Given the description of an element on the screen output the (x, y) to click on. 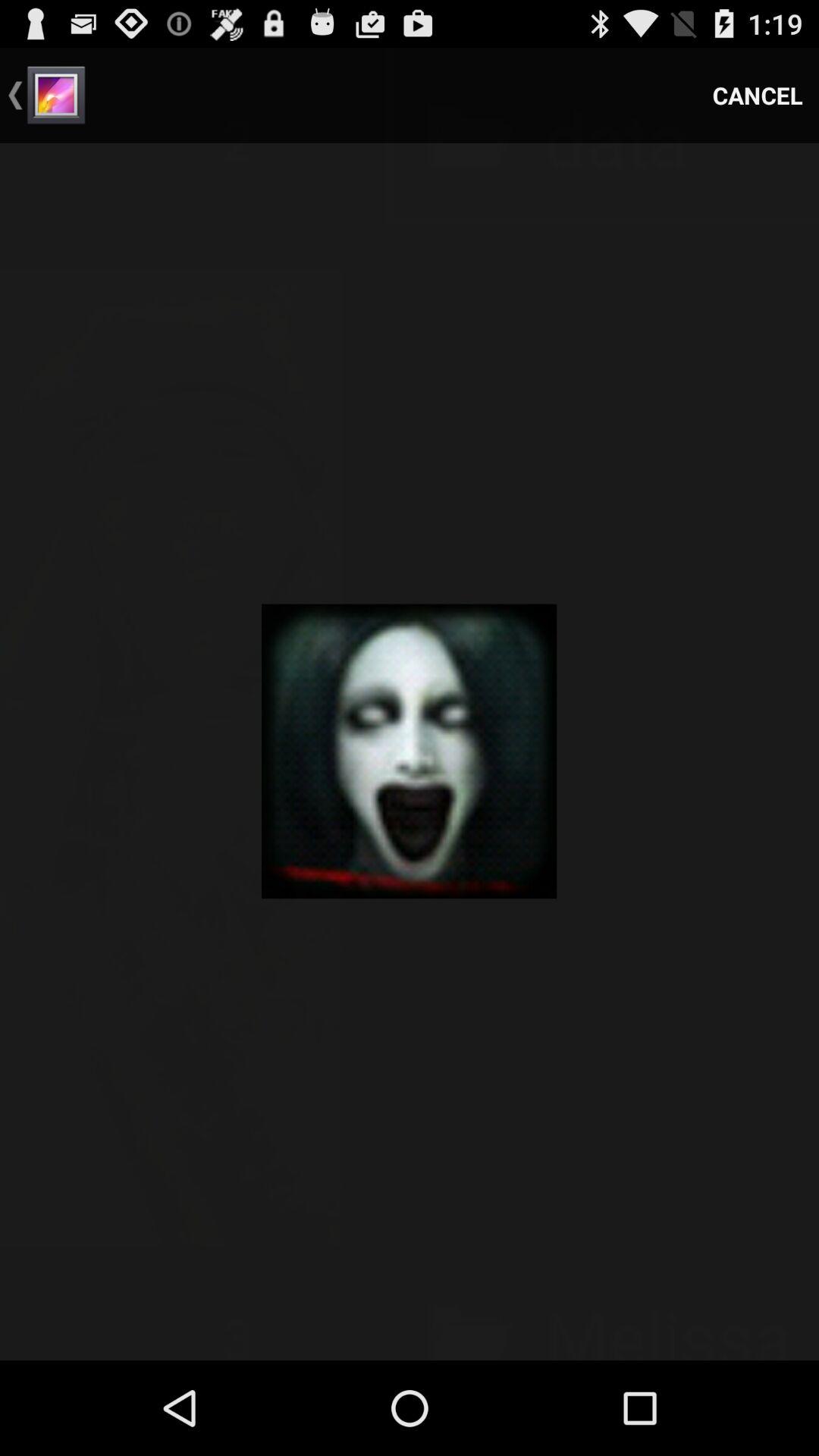
tap the cancel item (757, 95)
